Given the description of an element on the screen output the (x, y) to click on. 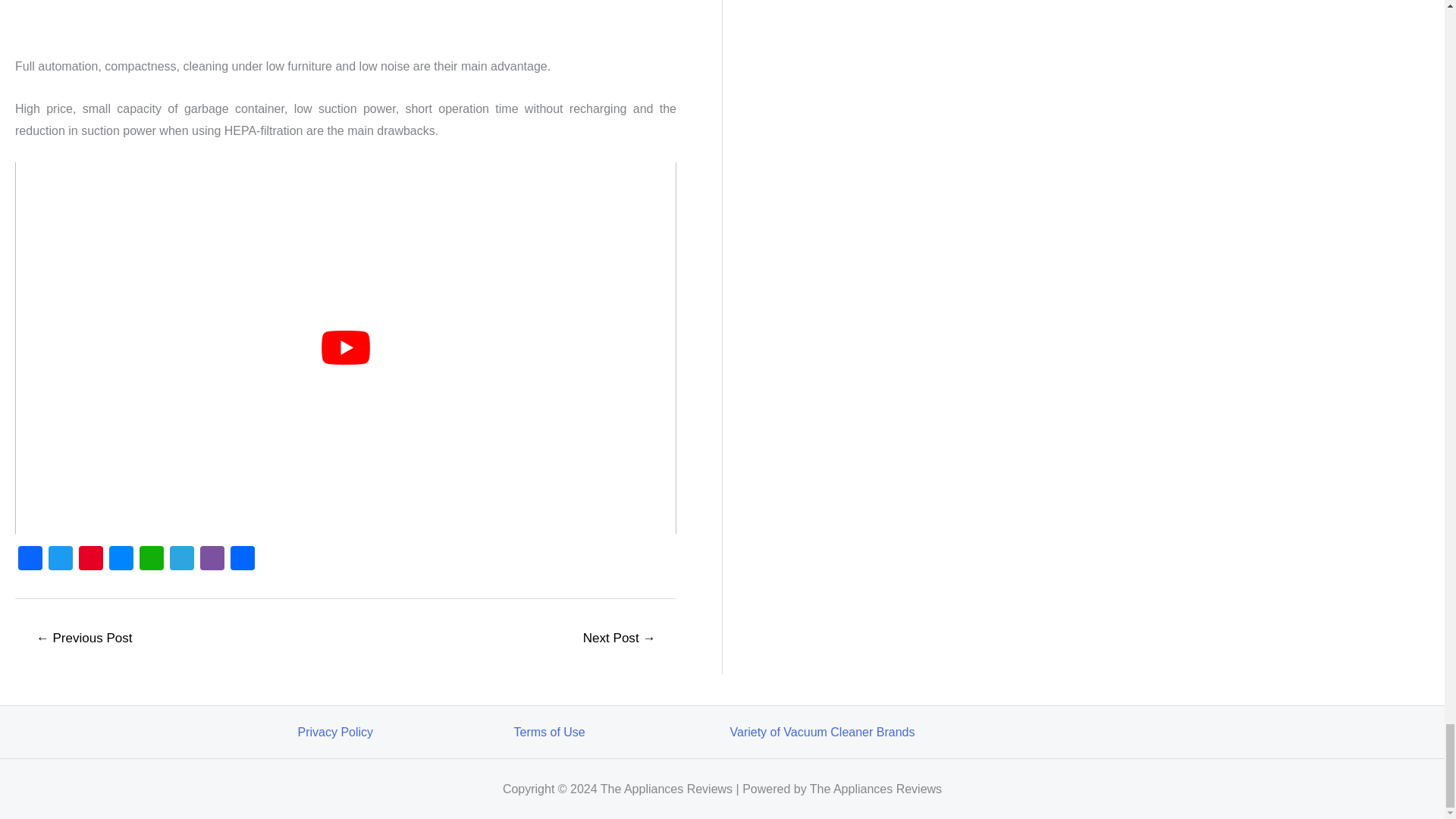
Facebook (29, 560)
Messenger (121, 560)
Twitter (60, 560)
Pinterest (90, 560)
